Given the description of an element on the screen output the (x, y) to click on. 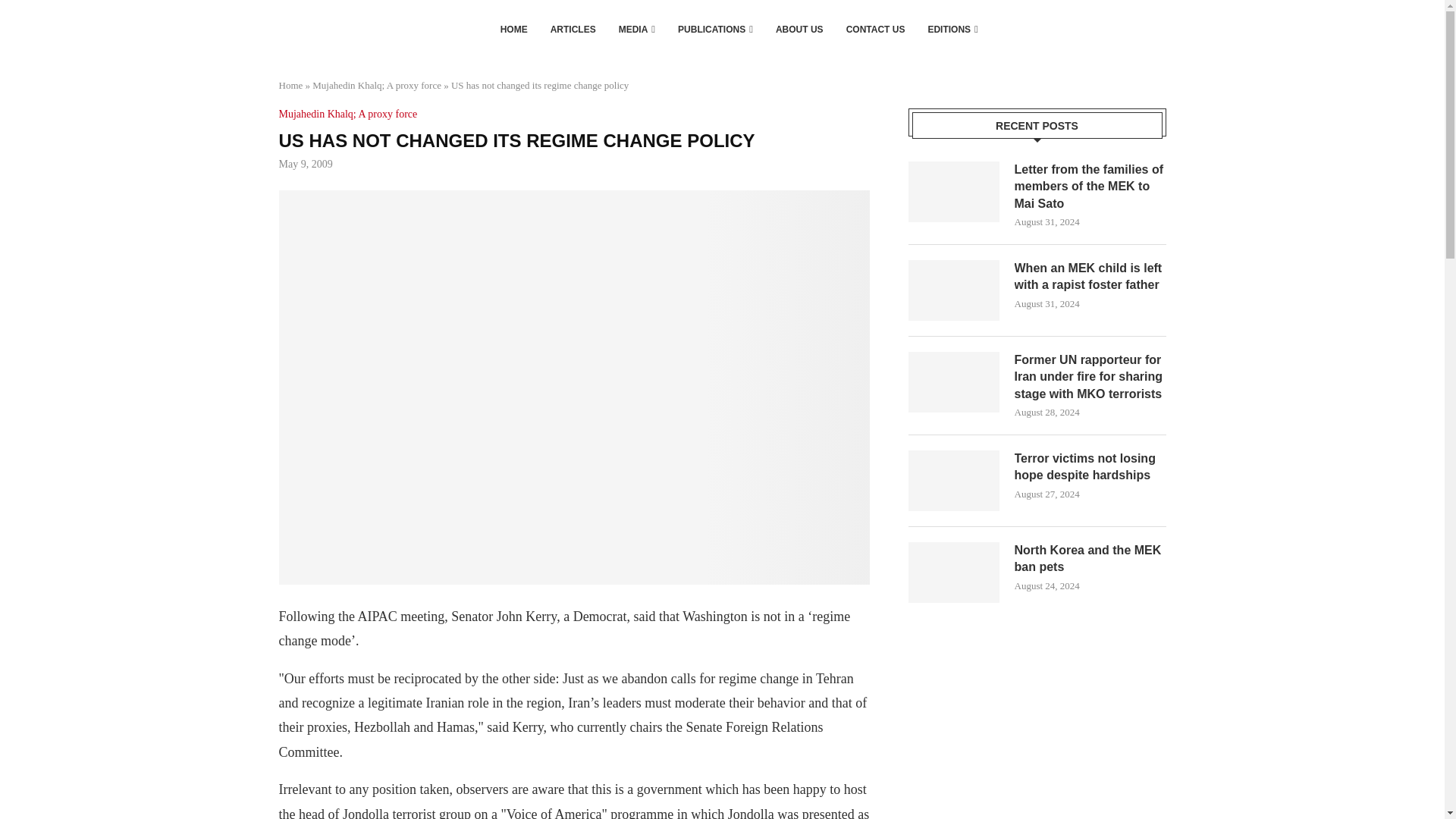
EDITIONS (951, 29)
ARTICLES (572, 29)
ABOUT US (800, 29)
When an MEK child is left with a rapist foster father (1090, 277)
When an MEK child is left with a rapist foster father (953, 290)
PUBLICATIONS (715, 29)
Letter from the families of members of the MEK to Mai Sato (1090, 186)
Letter from the families of members of the MEK to Mai Sato (953, 191)
CONTACT US (875, 29)
